Given the description of an element on the screen output the (x, y) to click on. 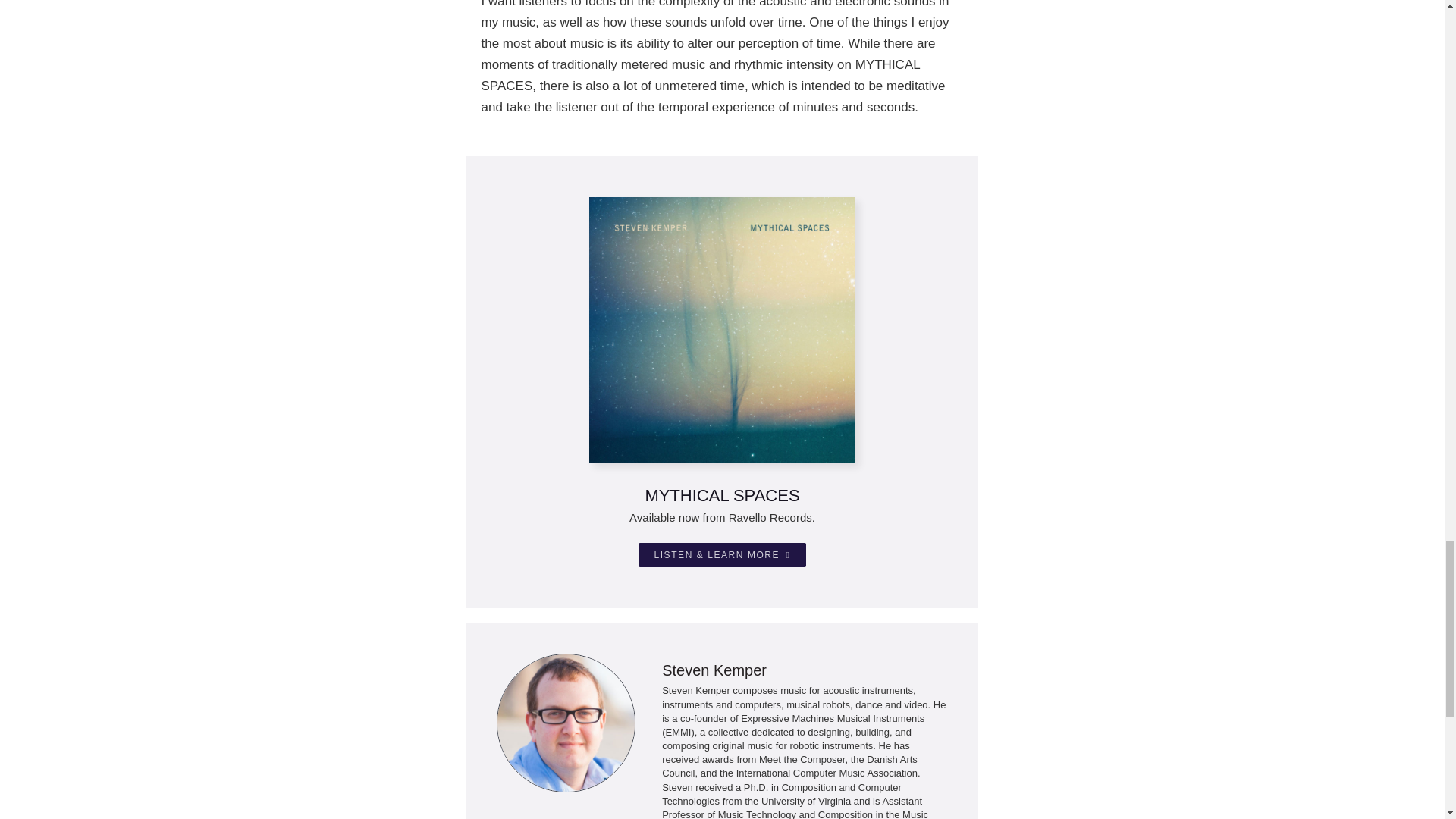
Steven-Kemper (565, 722)
Steven Kemper (714, 669)
